Given the description of an element on the screen output the (x, y) to click on. 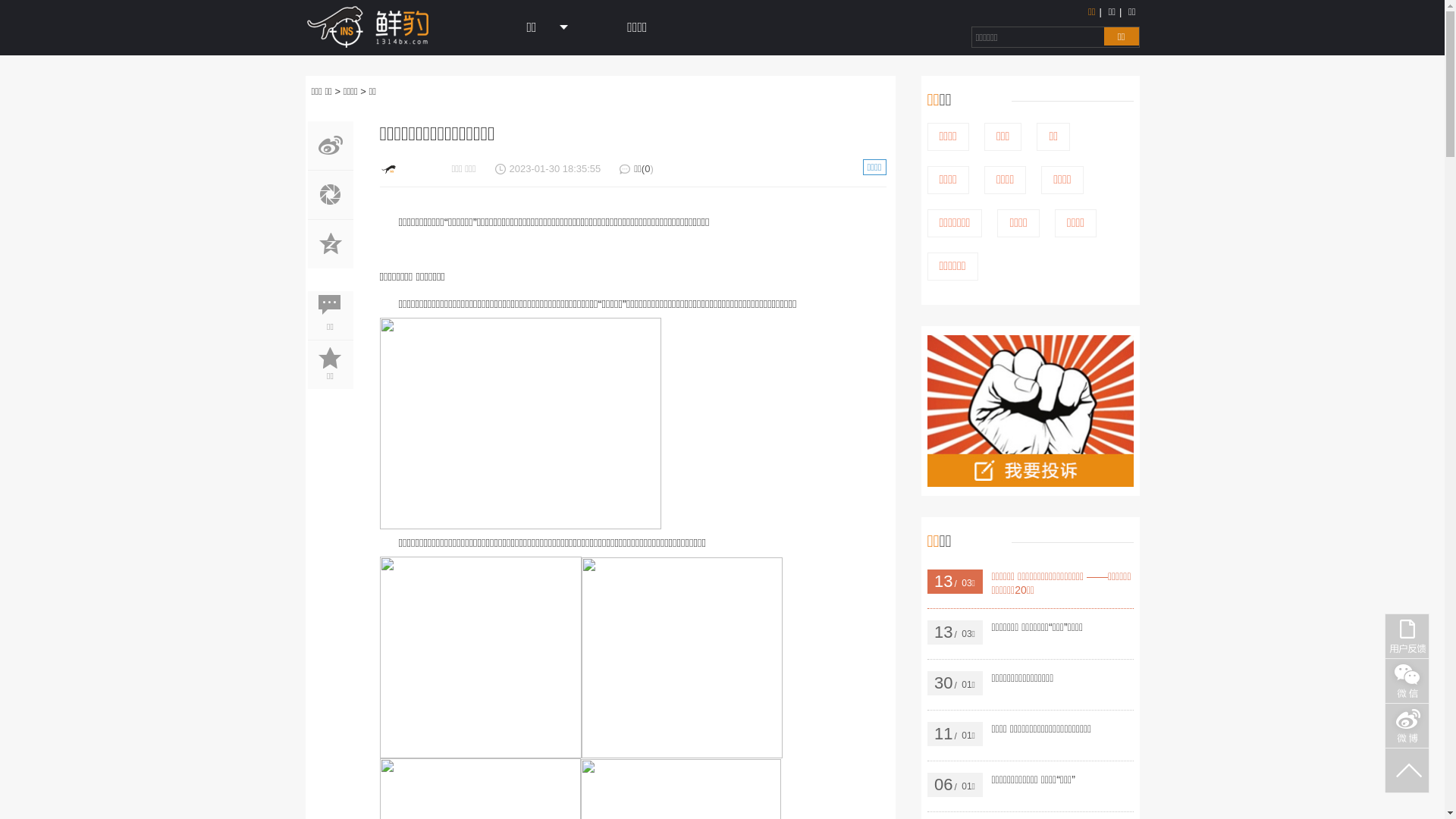
0 Element type: text (646, 168)
